Given the description of an element on the screen output the (x, y) to click on. 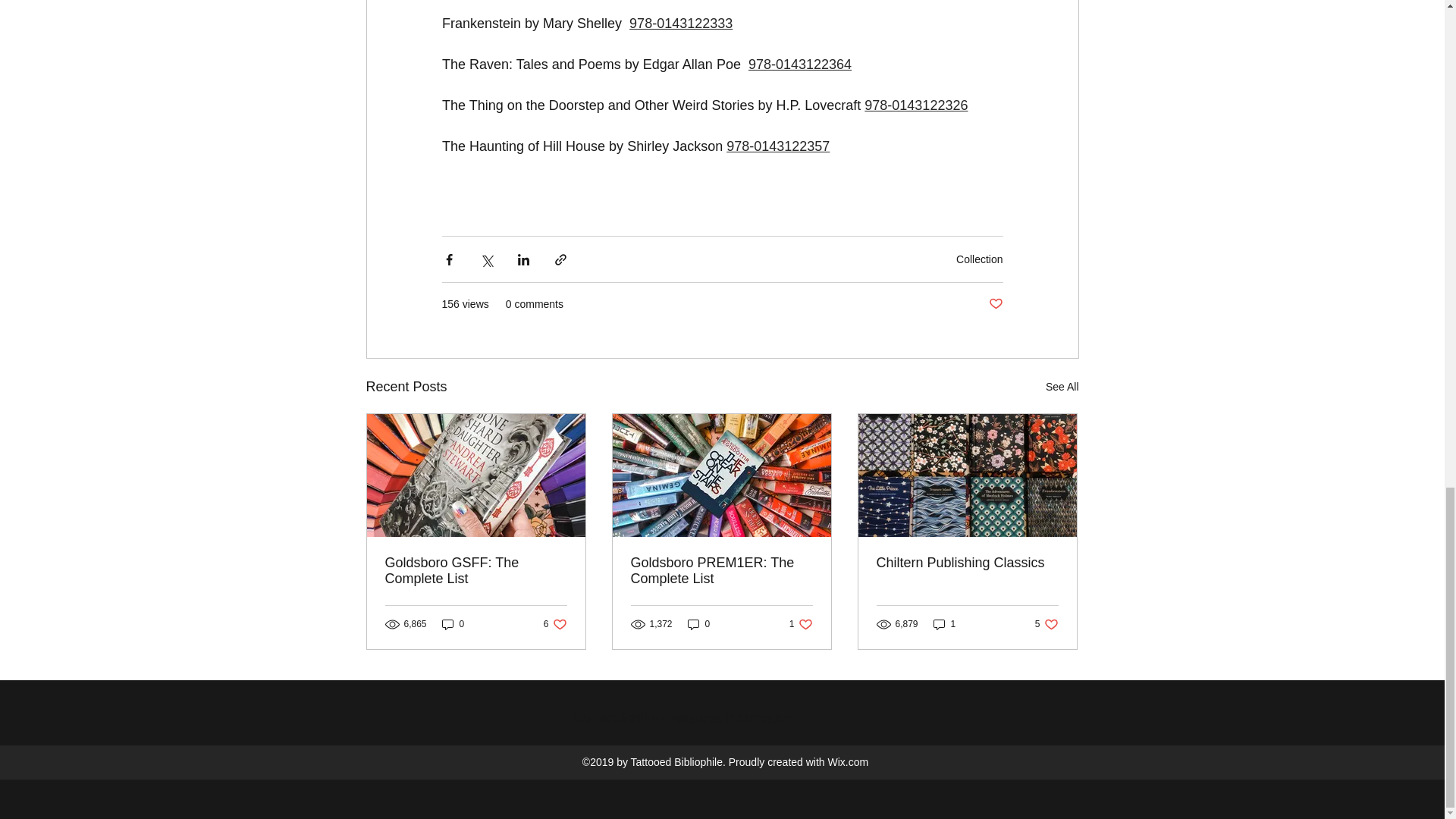
0 (698, 624)
Chiltern Publishing Classics (967, 562)
978-0143122333 (680, 23)
See All (1061, 386)
Post not marked as liked (995, 304)
978-0143122364 (799, 64)
978-0143122357 (777, 145)
1 (944, 624)
0 (453, 624)
978-0143122326 (916, 105)
Collection (979, 259)
Goldsboro GSFF: The Complete List (476, 571)
Goldsboro PREM1ER: The Complete List (721, 571)
